Given the description of an element on the screen output the (x, y) to click on. 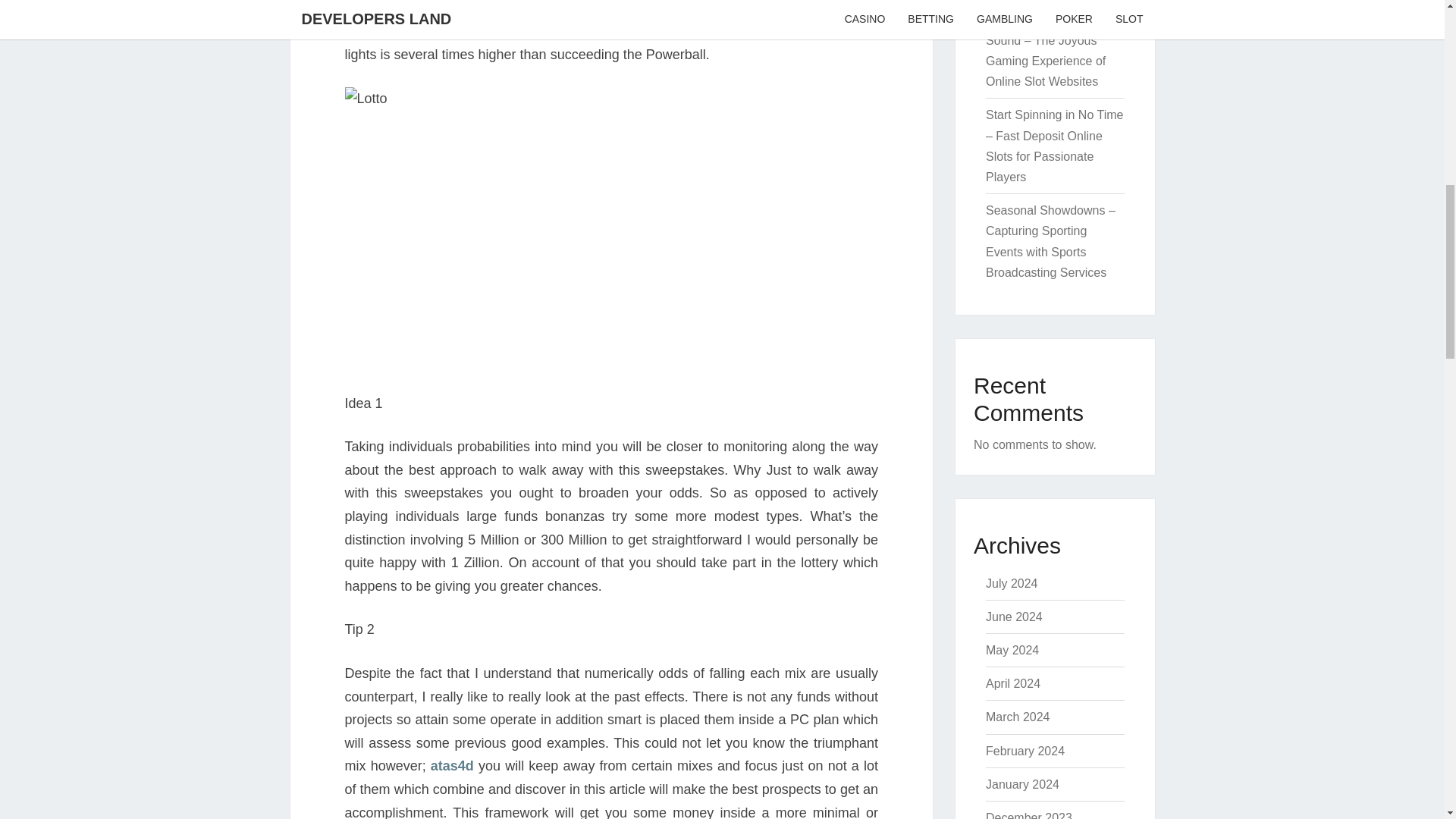
January 2024 (1022, 784)
March 2024 (1017, 716)
February 2024 (1024, 750)
July 2024 (1011, 583)
June 2024 (1013, 616)
atas4d (452, 765)
December 2023 (1028, 815)
May 2024 (1012, 649)
April 2024 (1013, 683)
